Given the description of an element on the screen output the (x, y) to click on. 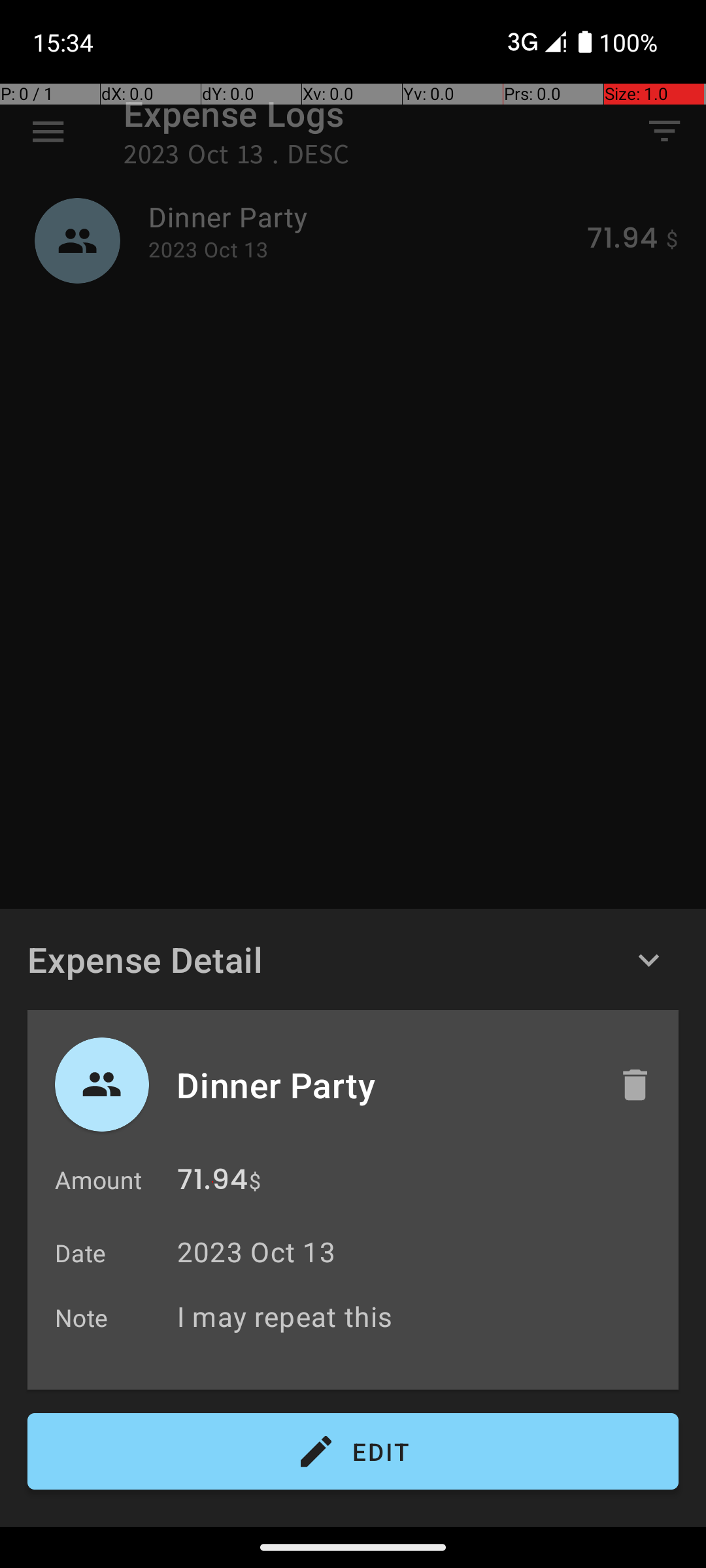
Dinner Party Element type: android.widget.TextView (383, 1084)
71.94 Element type: android.widget.TextView (212, 1182)
$ Element type: android.widget.TextView (254, 1180)
